Given the description of an element on the screen output the (x, y) to click on. 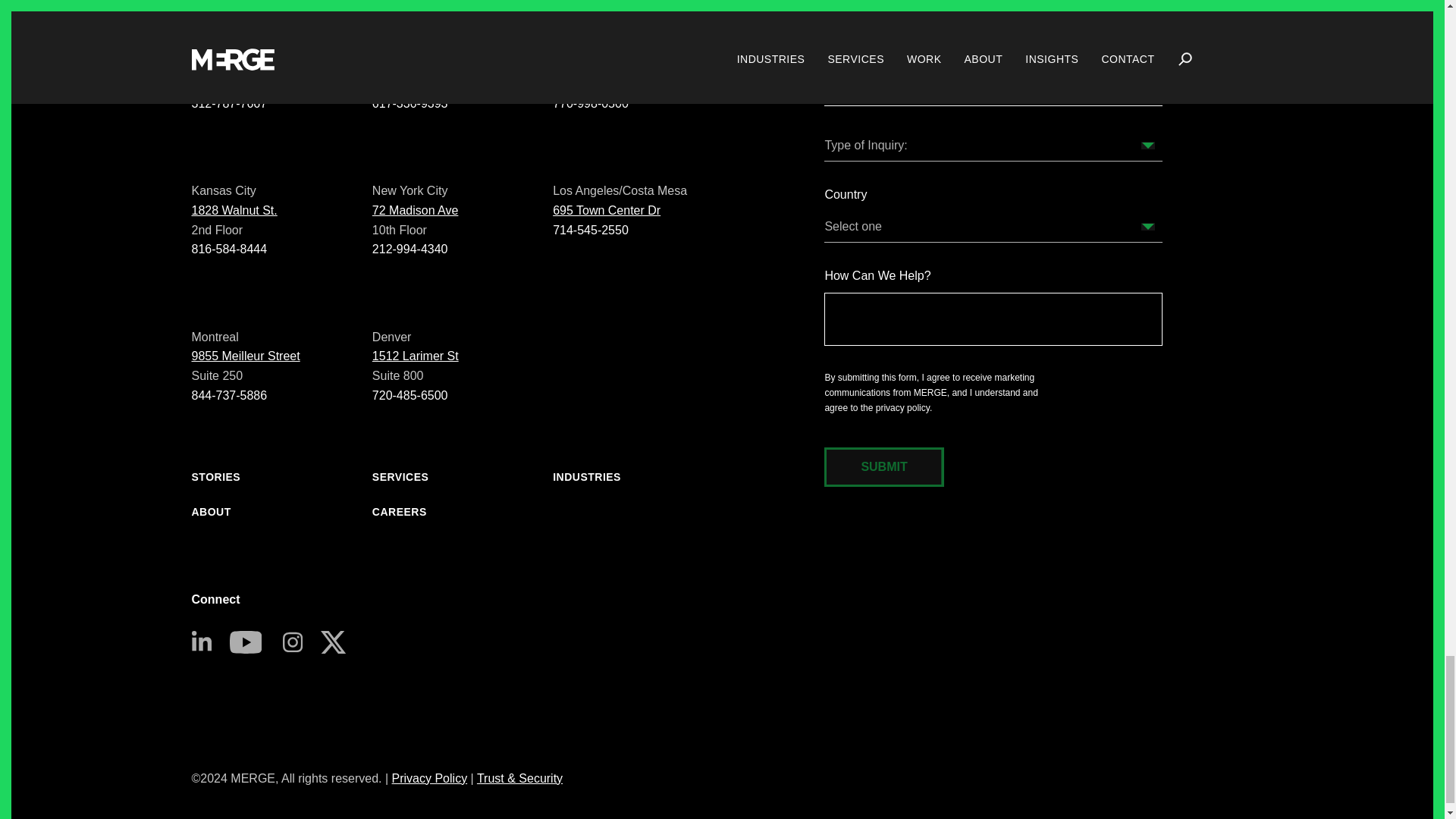
Your company email (992, 89)
